Given the description of an element on the screen output the (x, y) to click on. 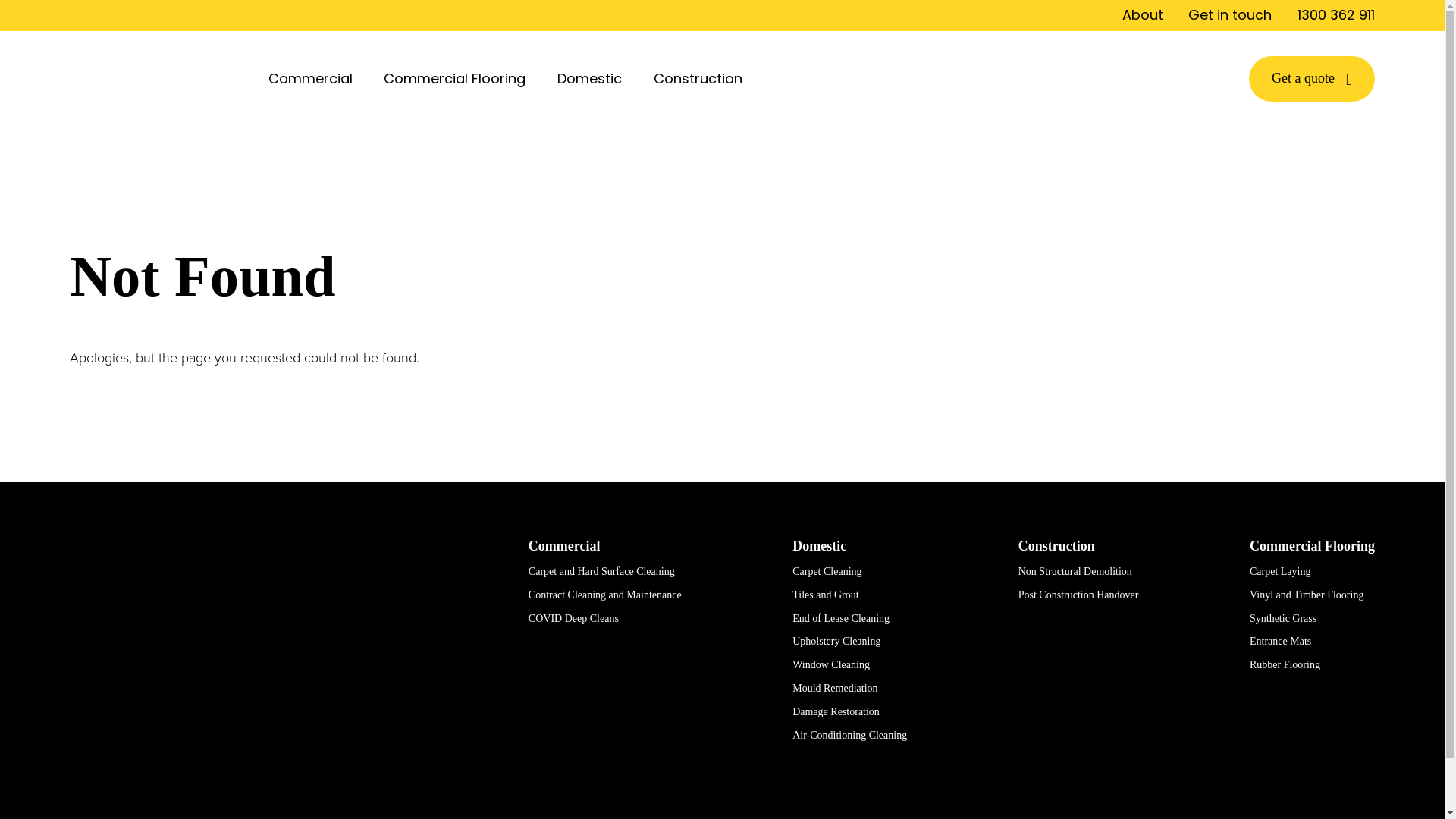
Rubber Flooring Element type: text (1284, 664)
Commercial Flooring Element type: text (457, 78)
Air-Conditioning Cleaning Element type: text (849, 734)
Get in touch Element type: text (1229, 15)
COVID Deep Cleans Element type: text (573, 618)
Construction Element type: text (700, 78)
Post Construction Handover Element type: text (1078, 594)
Construction Element type: text (1056, 545)
Contract Cleaning and Maintenance Element type: text (604, 594)
Carpet Laying Element type: text (1279, 571)
Domestic Element type: text (819, 545)
Synthetic Grass Element type: text (1282, 618)
1300 362 911 Element type: text (1335, 15)
Damage Restoration Element type: text (835, 711)
Mould Remediation Element type: text (834, 687)
End of Lease Cleaning Element type: text (840, 618)
Domestic Element type: text (592, 78)
Entrance Mats Element type: text (1280, 640)
Commercial Flooring Element type: text (1311, 545)
Commercial Element type: text (564, 545)
Upholstery Cleaning Element type: text (836, 640)
Carpet Cleaning Element type: text (826, 571)
Get a quote Element type: text (1311, 78)
About Element type: text (1142, 15)
Tiles and Grout Element type: text (825, 594)
Morgans Group Element type: hover (155, 78)
Carpet and Hard Surface Cleaning Element type: text (601, 571)
Morgans Group Element type: hover (278, 645)
Commercial Element type: text (313, 78)
Window Cleaning Element type: text (830, 664)
Vinyl and Timber Flooring Element type: text (1306, 594)
Non Structural Demolition Element type: text (1075, 571)
